Given the description of an element on the screen output the (x, y) to click on. 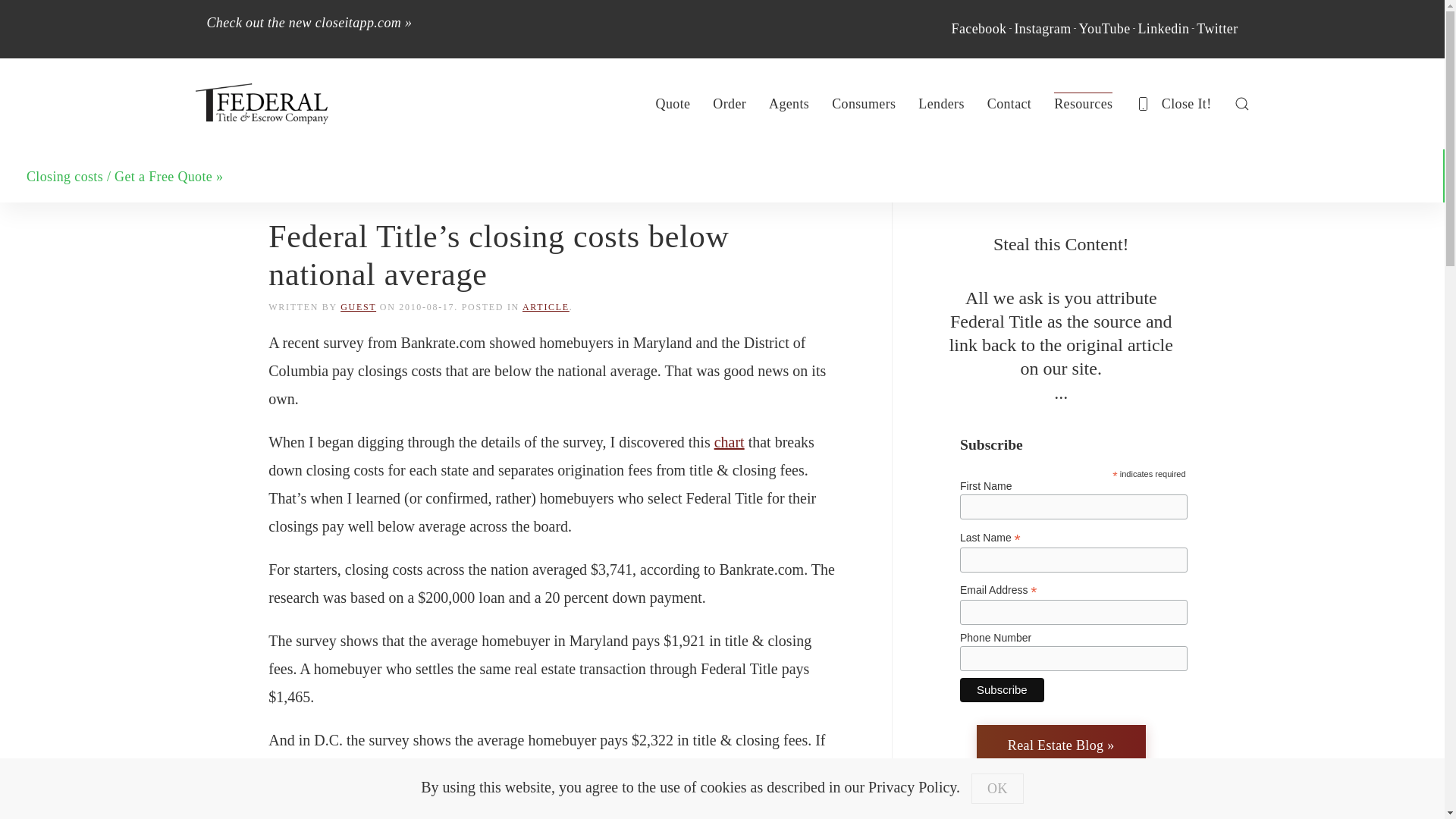
closing costs calculator (124, 176)
Subscribe (1001, 689)
federal title's blog (1060, 745)
